Given the description of an element on the screen output the (x, y) to click on. 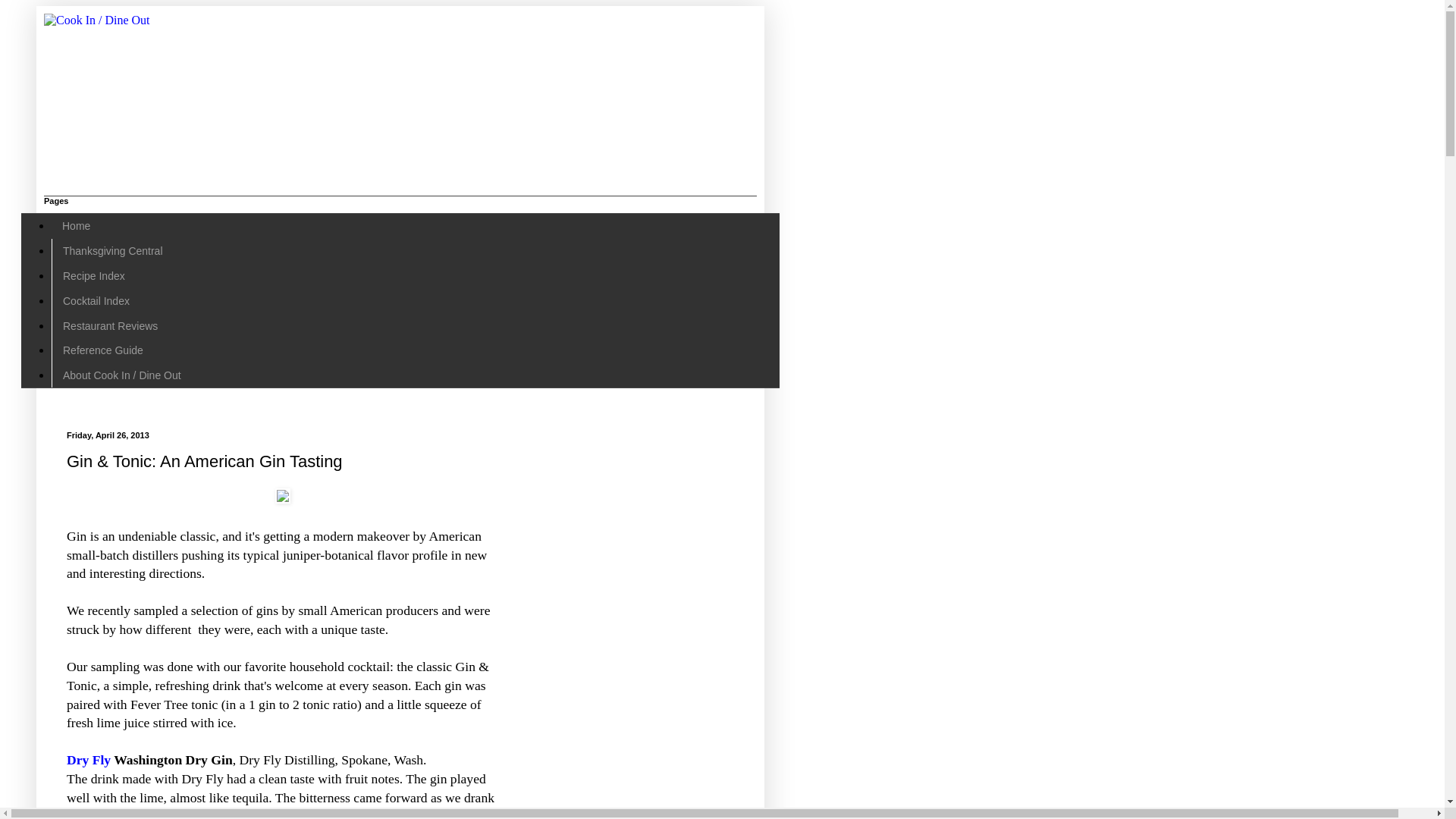
Restaurant Reviews (109, 325)
Dry Fly (88, 759)
Cocktail Index (94, 300)
Recipe Index (92, 276)
Thanksgiving Central (111, 251)
Home (75, 226)
Reference Guide (102, 350)
